Given the description of an element on the screen output the (x, y) to click on. 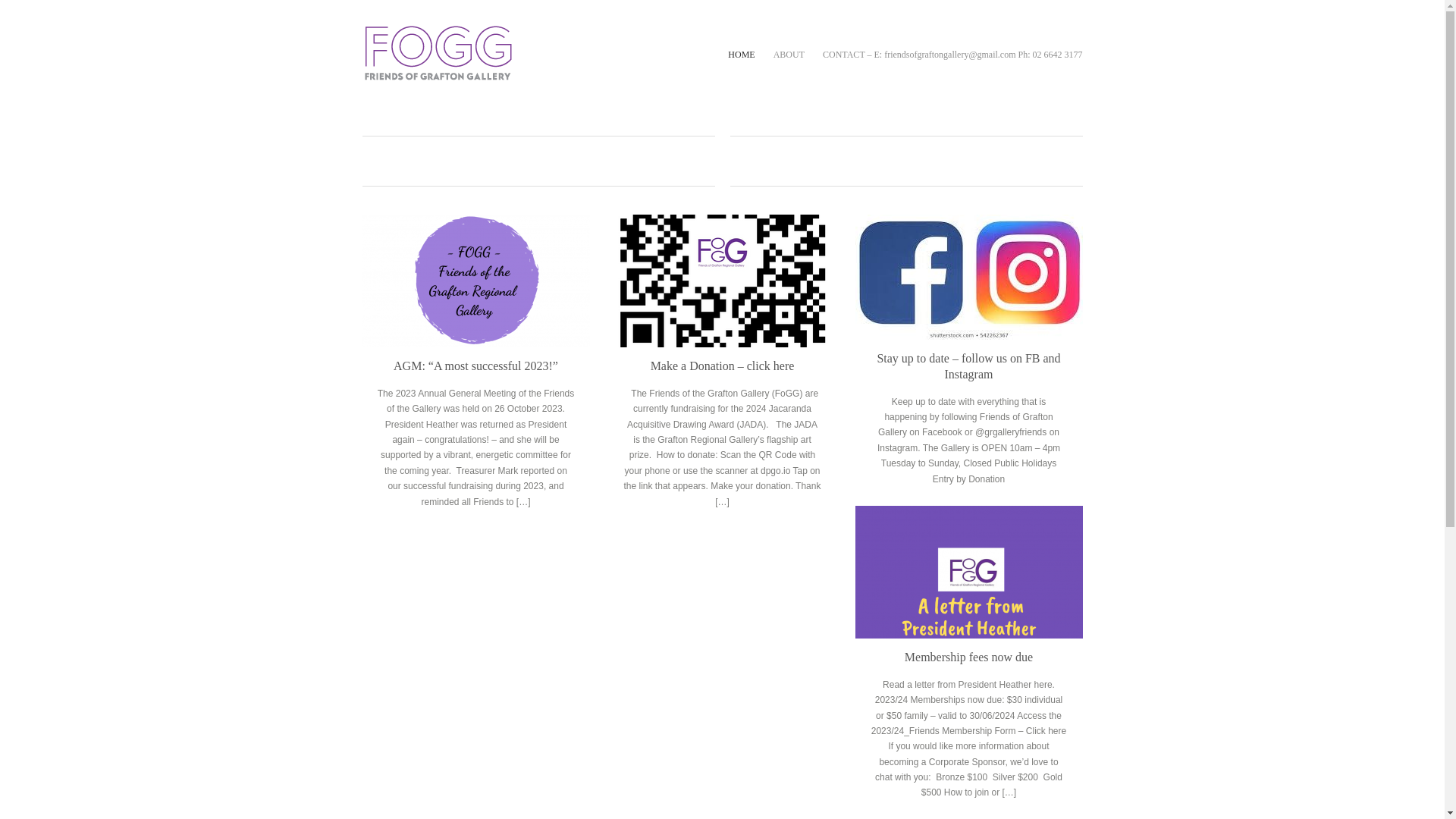
Membership fees now due Element type: text (968, 656)
HOME Element type: text (741, 54)
Membership fees now due Element type: hover (968, 571)
